Given the description of an element on the screen output the (x, y) to click on. 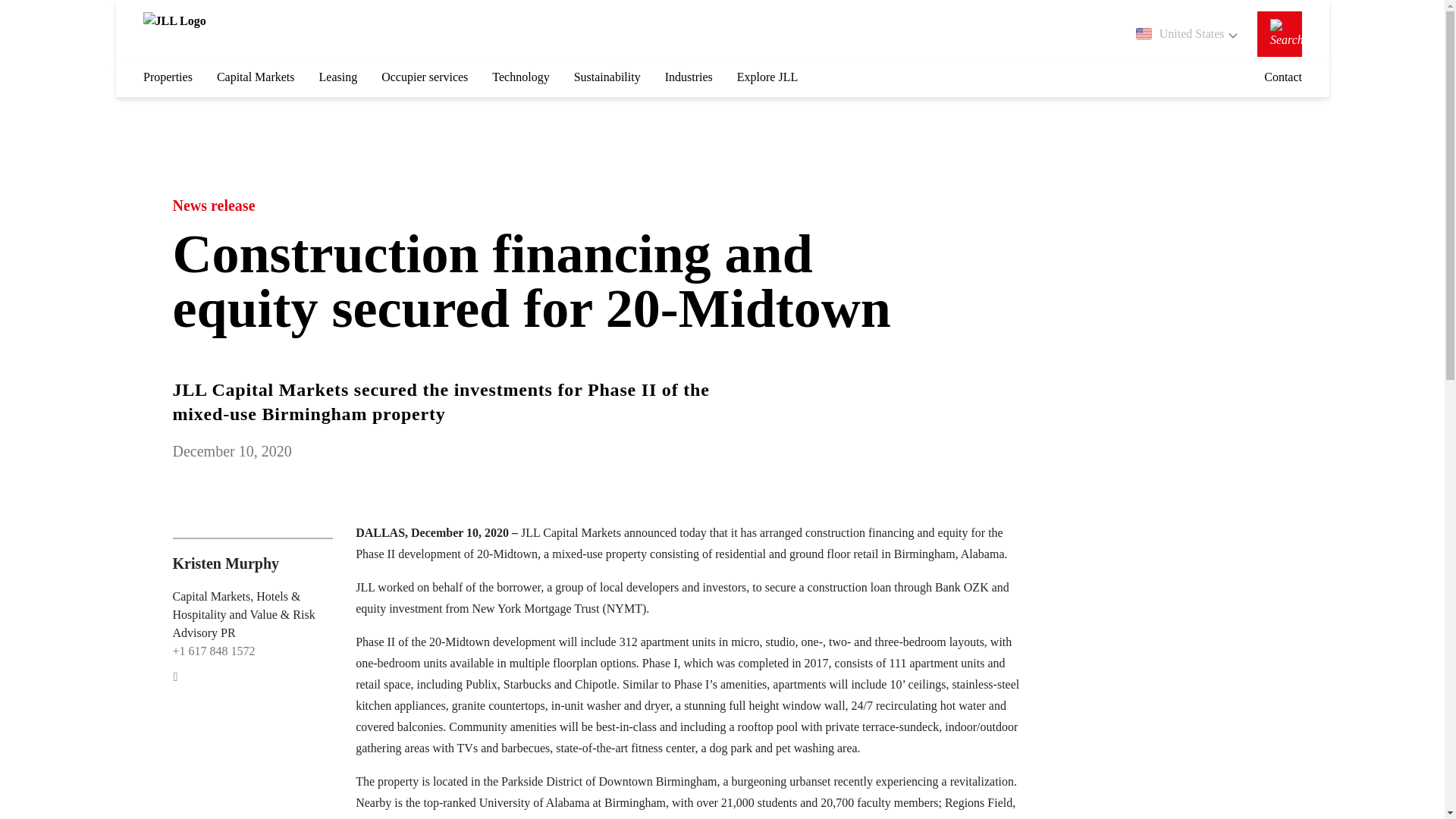
United States (1186, 34)
